Given the description of an element on the screen output the (x, y) to click on. 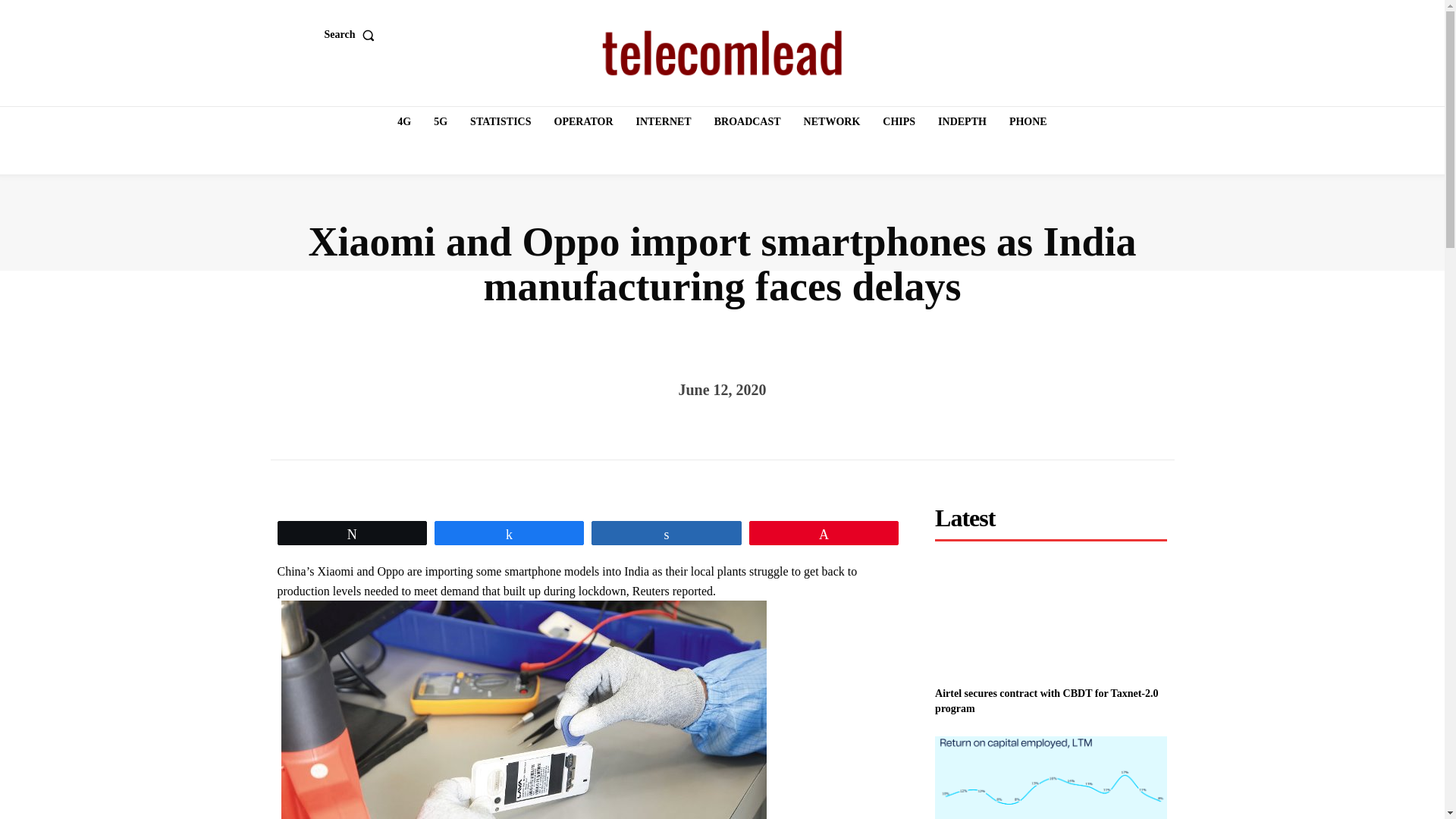
STATISTICS (500, 122)
INTERNET (663, 122)
Search (352, 34)
OPERATOR (584, 122)
PHONE (1027, 122)
BROADCAST (747, 122)
4G (404, 122)
CHIPS (899, 122)
NETWORK (831, 122)
5G (440, 122)
Airtel secures contract with CBDT for Taxnet-2.0 program (1050, 618)
INDEPTH (962, 122)
Airtel secures contract with CBDT for Taxnet-2.0 program (1045, 700)
tl (722, 53)
Airtel secures contract with CBDT for Taxnet-2.0 program (1045, 700)
